Given the description of an element on the screen output the (x, y) to click on. 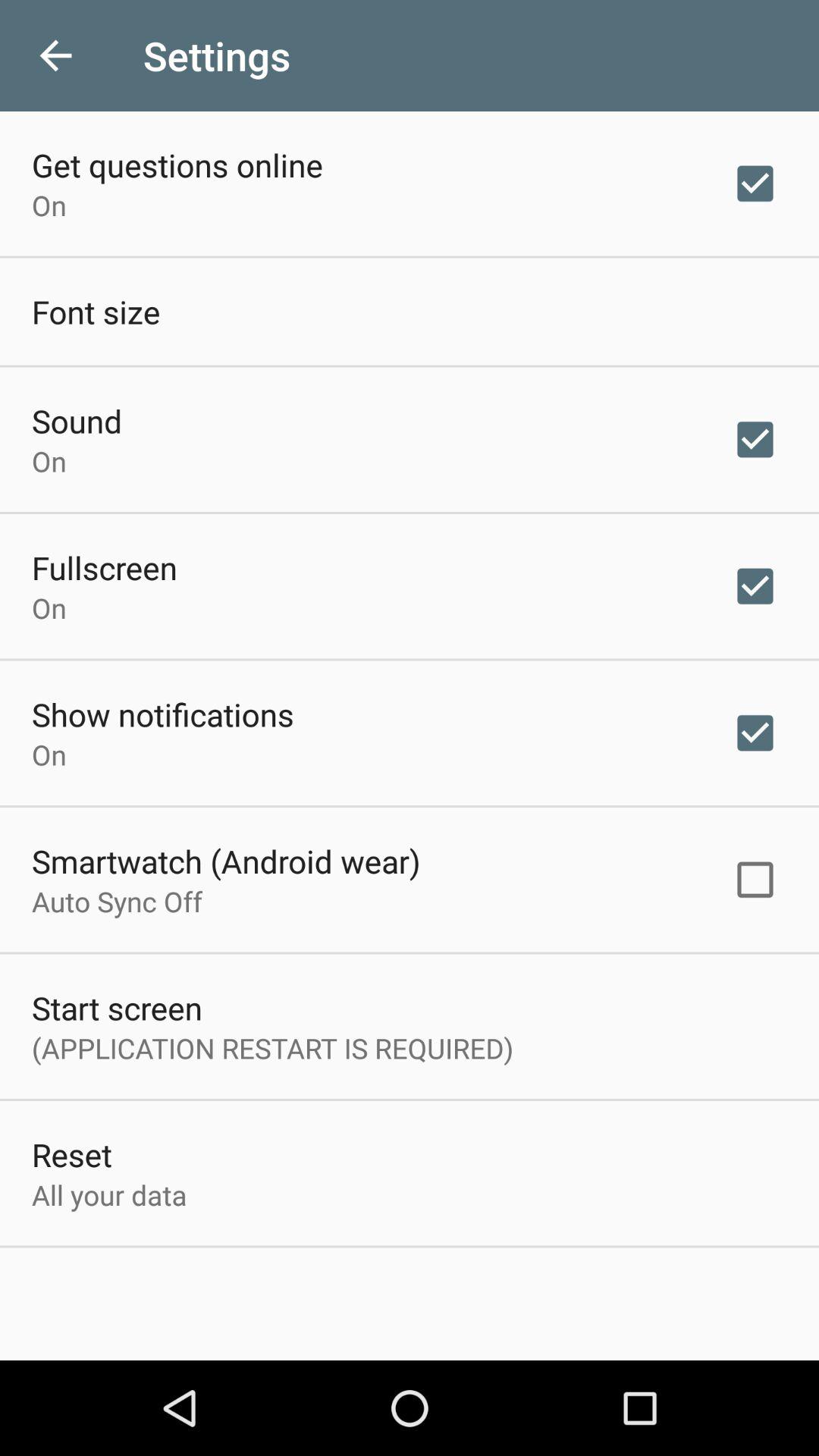
turn on the item above reset icon (272, 1047)
